Given the description of an element on the screen output the (x, y) to click on. 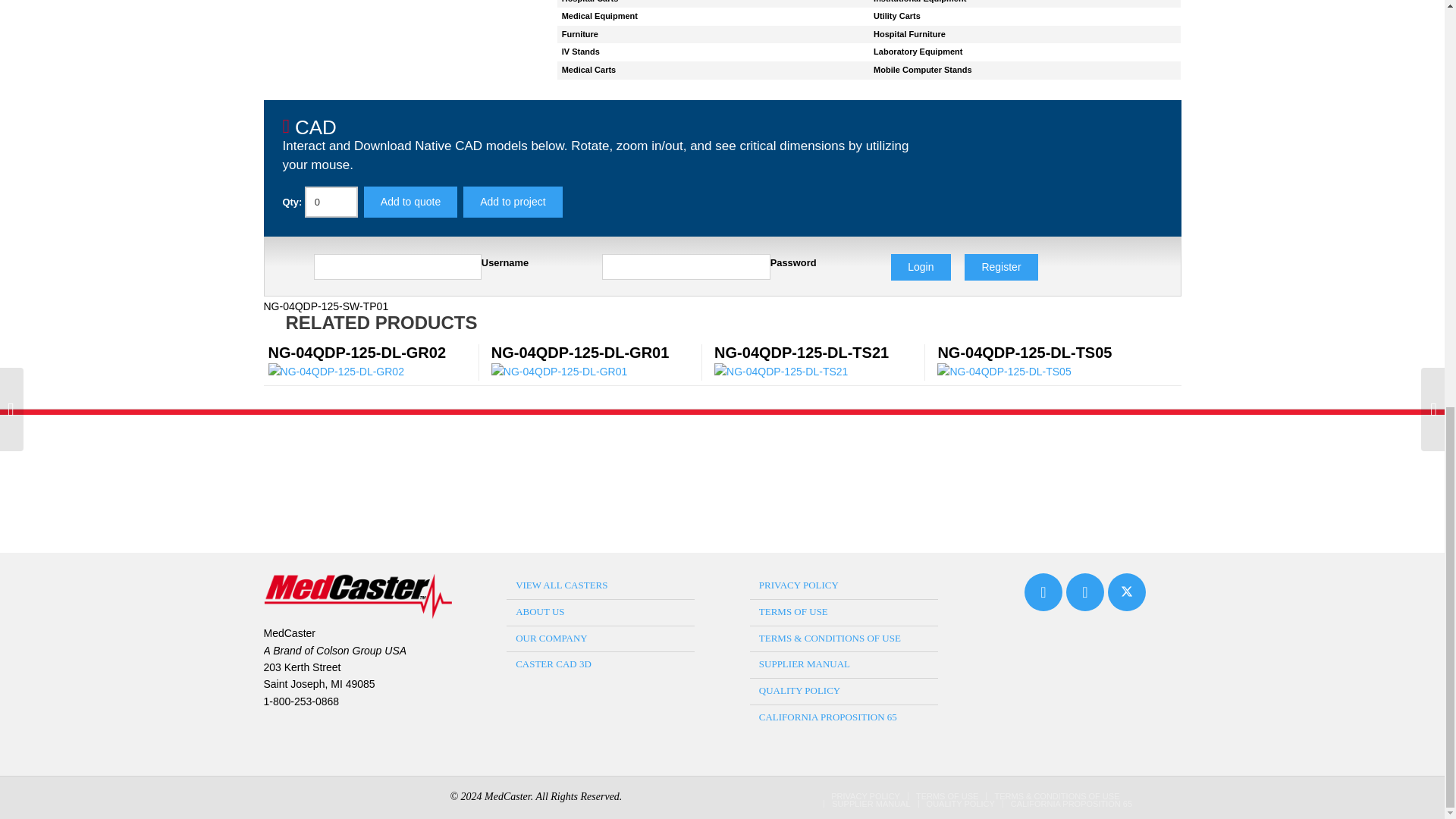
0 (331, 201)
Mail (1043, 594)
Facebook (1084, 594)
Twitter (1126, 594)
